Given the description of an element on the screen output the (x, y) to click on. 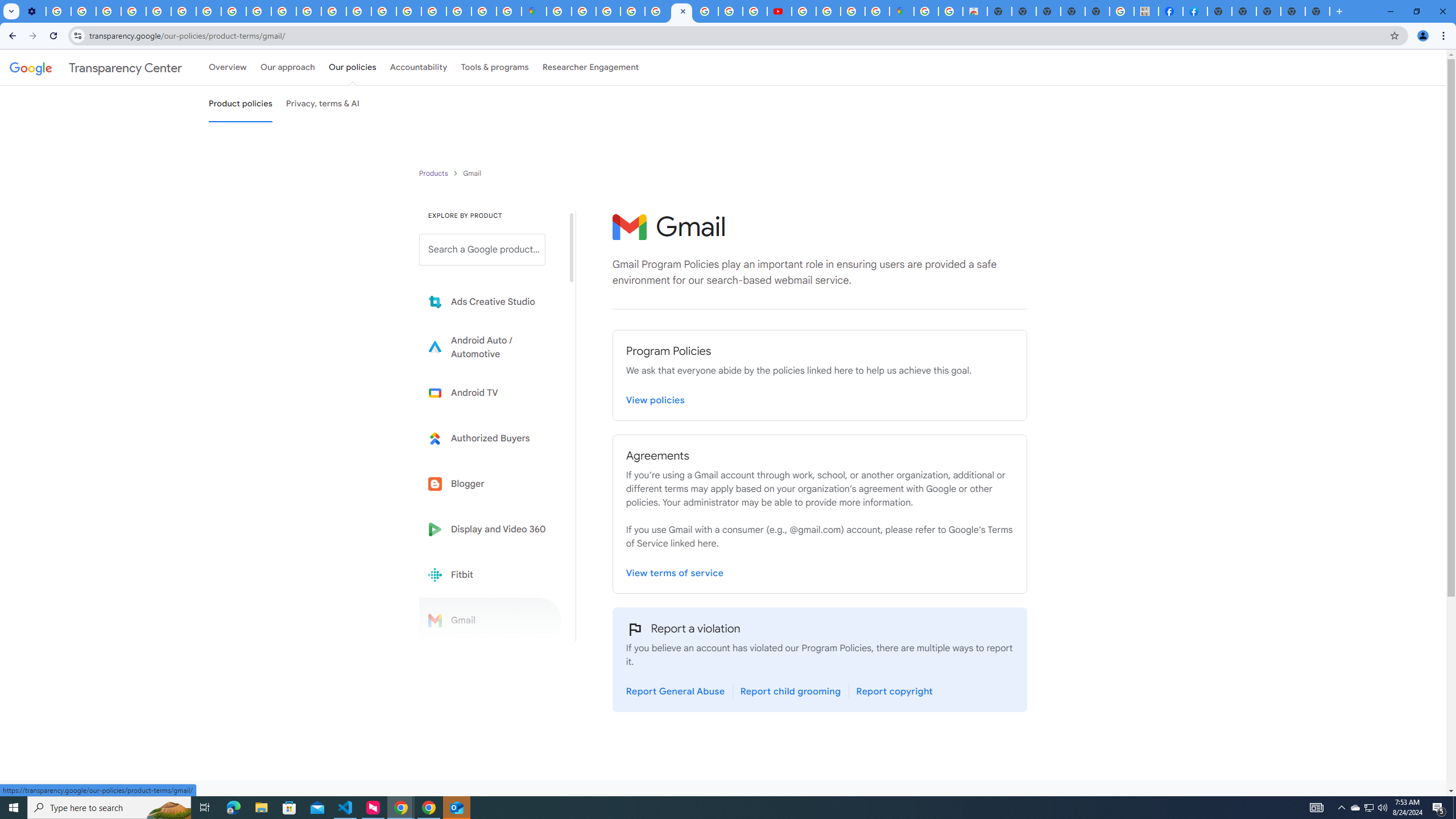
Tools & programs (494, 67)
Terms and Conditions (656, 11)
Google Maps (900, 11)
Display and Video 360 (490, 529)
